Given the description of an element on the screen output the (x, y) to click on. 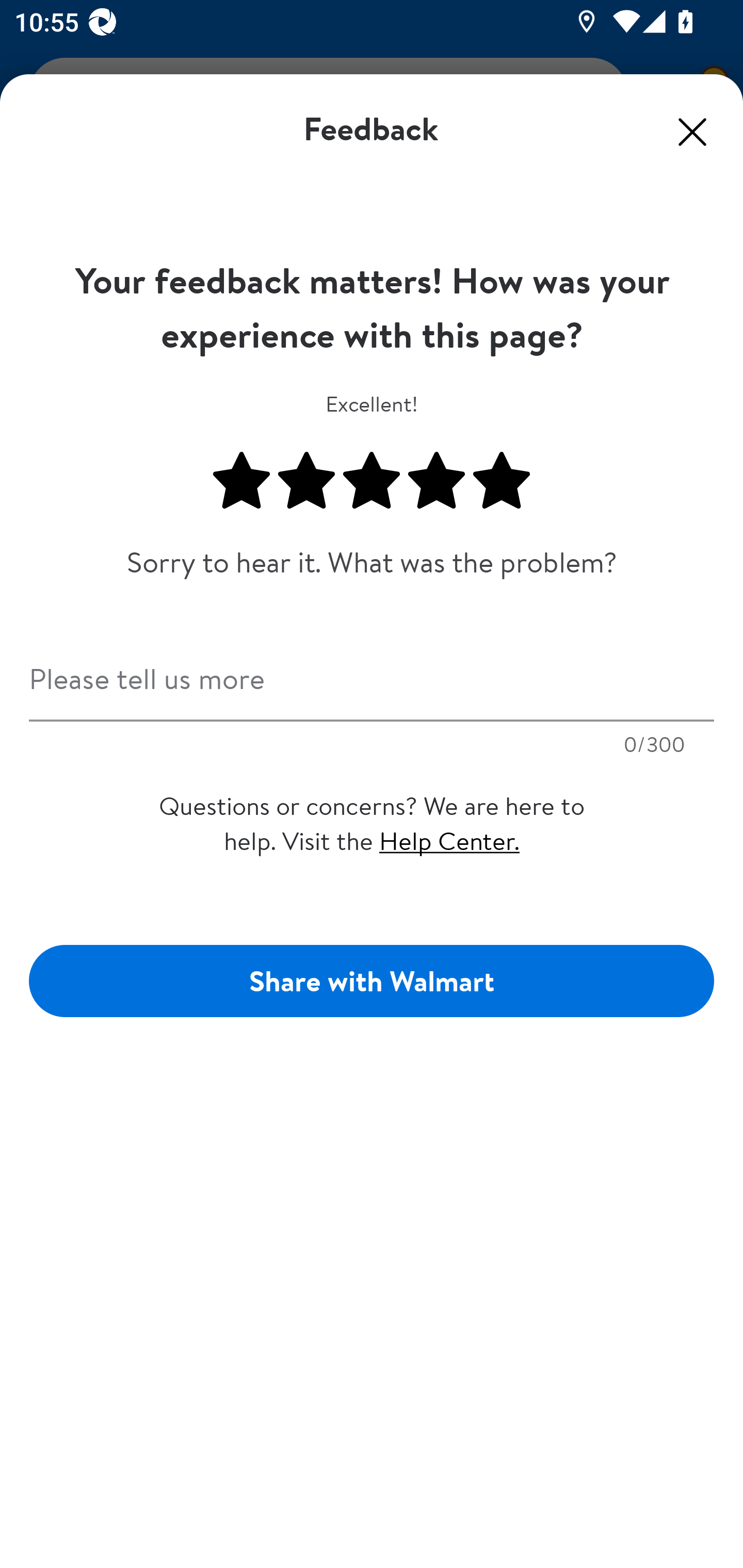
Close (692, 131)
1 out of 5 stars, not selected (241, 480)
2 out of 5 stars, not selected (306, 480)
3 out of 5 stars, not selected (371, 480)
4 out of 5 stars, not selected (436, 480)
5 out of 5 stars, selected (501, 480)
Please tell us more (371, 673)
Share with Walmart (371, 981)
